Given the description of an element on the screen output the (x, y) to click on. 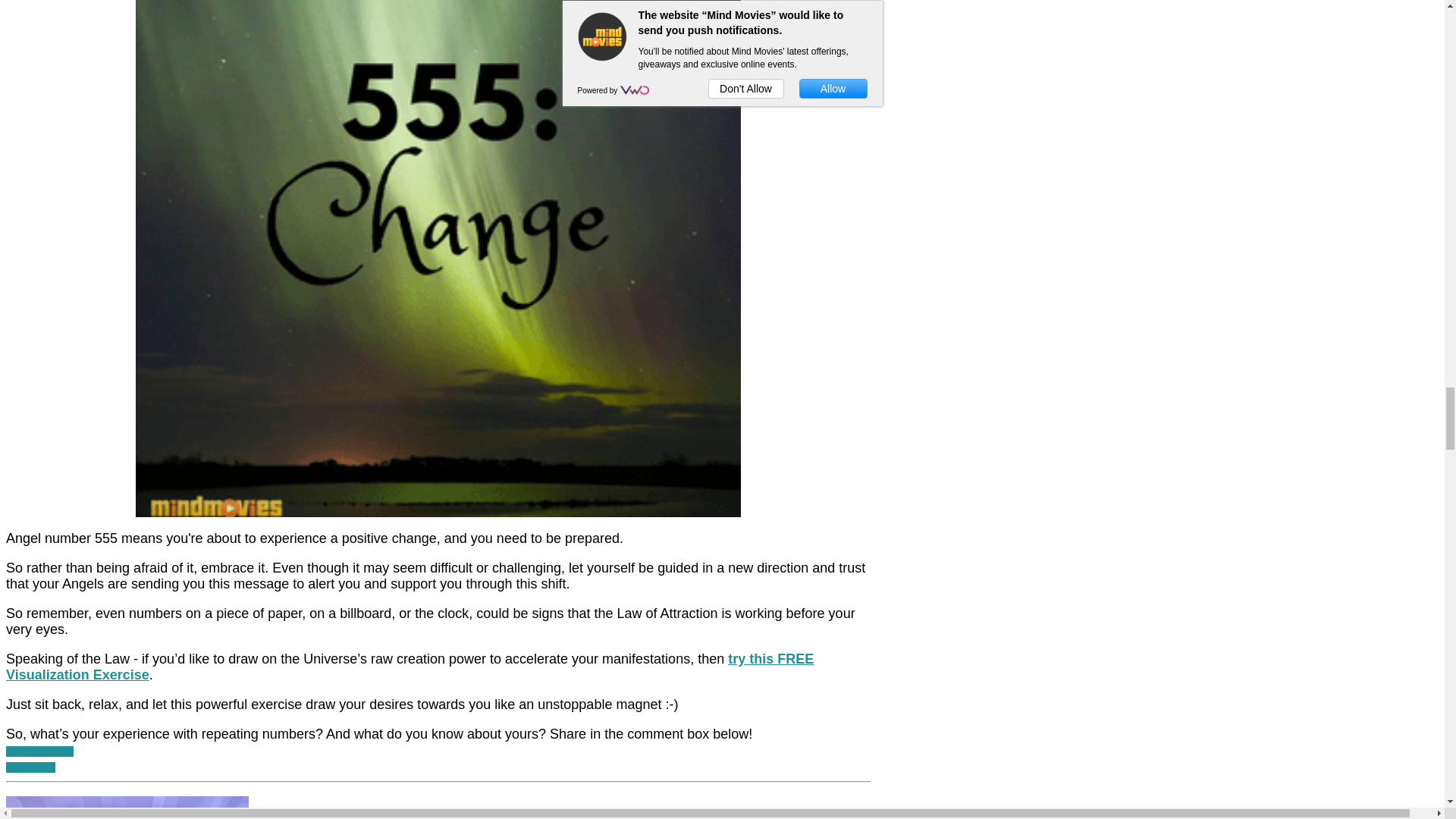
try this FREE Visualization Exercise (409, 666)
